Given the description of an element on the screen output the (x, y) to click on. 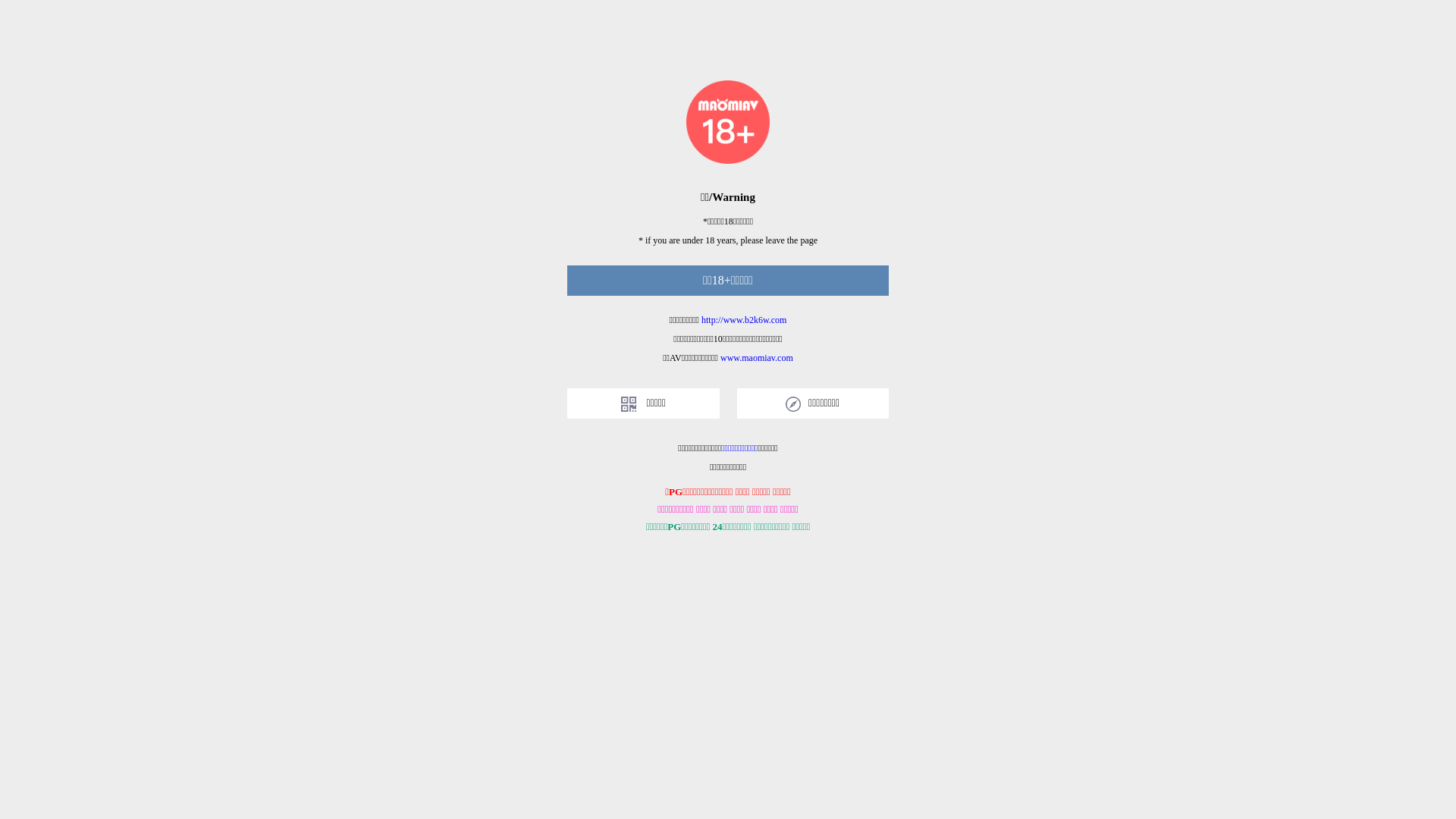
http://www.b2k6w.com Element type: text (743, 319)
www.maomiav.com Element type: text (756, 357)
